Given the description of an element on the screen output the (x, y) to click on. 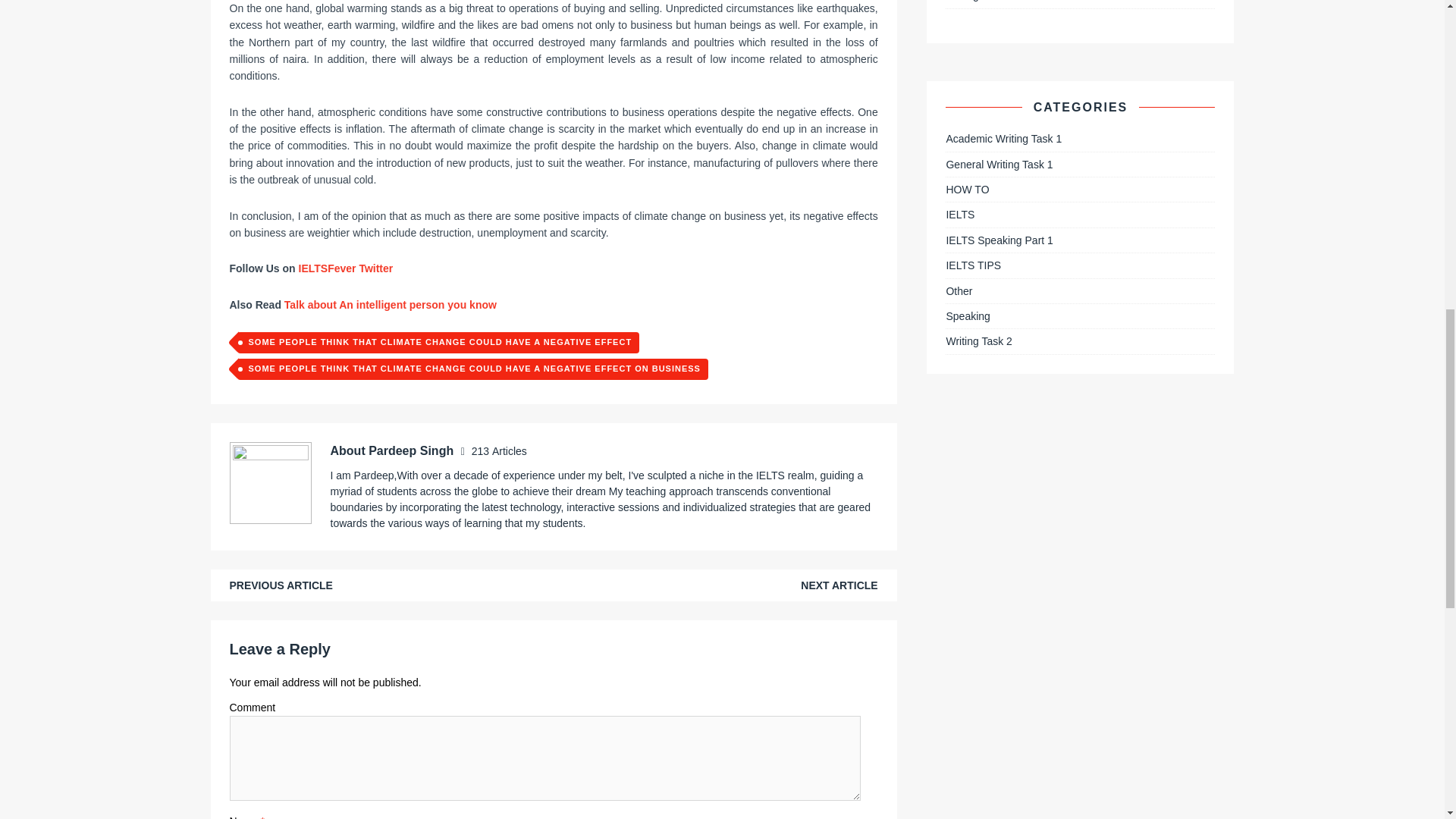
213 Articles (499, 451)
IELTSFever Twitter (344, 268)
Talk about An intelligent person you know (389, 304)
PREVIOUS ARTICLE (279, 585)
NEXT ARTICLE (838, 585)
More articles written by Pardeep Singh' (499, 451)
